Given the description of an element on the screen output the (x, y) to click on. 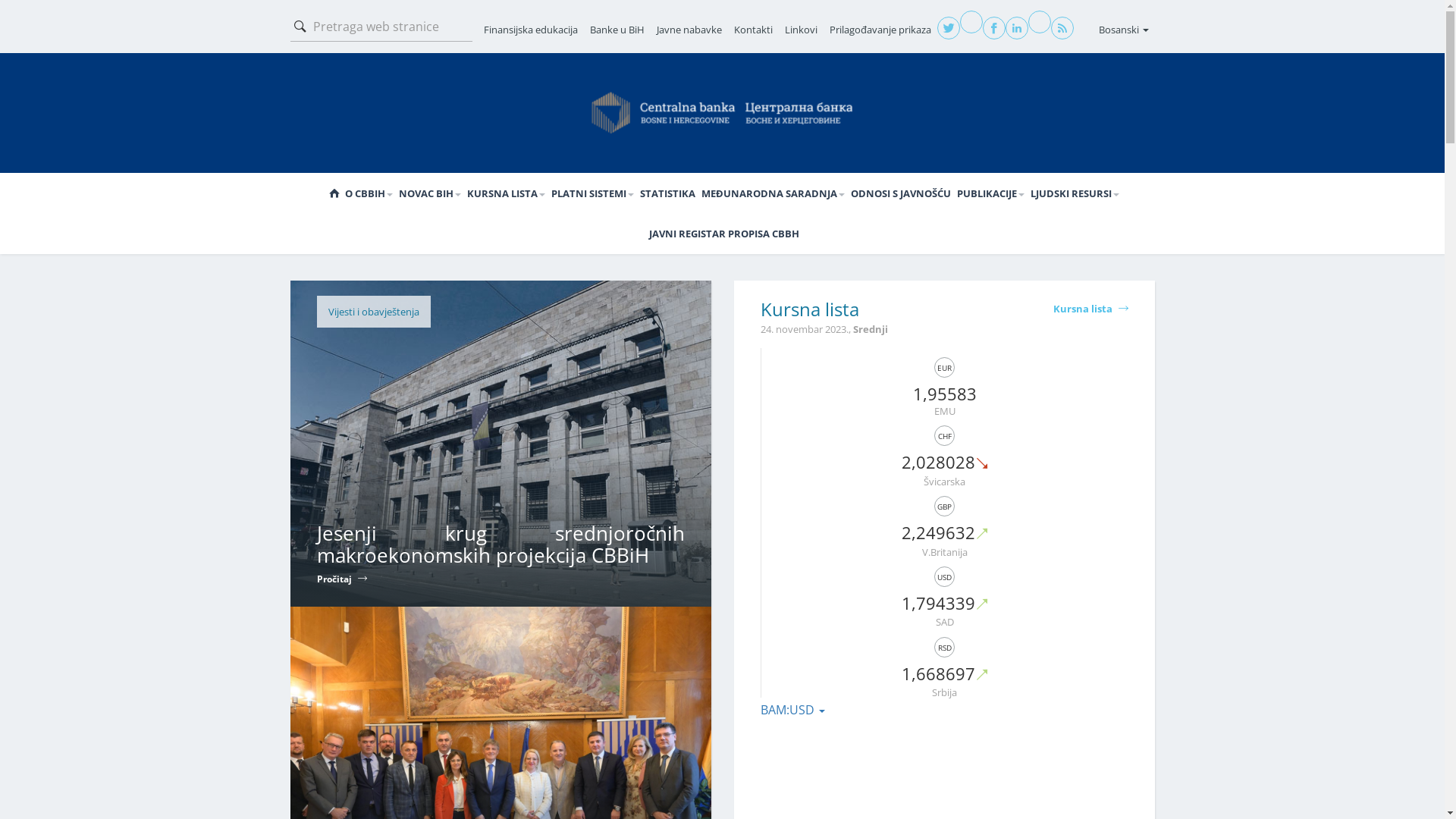
O CBBIH Element type: text (367, 193)
PUBLIKACIJE Element type: text (990, 193)
BAM:USD Element type: text (791, 709)
STATISTIKA Element type: text (667, 193)
Finansijska edukacija Element type: text (530, 29)
Kontakti Element type: text (753, 29)
KURSNA LISTA Element type: text (505, 193)
LJUDSKI RESURSI Element type: text (1074, 193)
Javne nabavke Element type: text (689, 29)
NOVAC BIH Element type: text (429, 193)
Kursna lista Element type: text (1089, 308)
Bosanski Element type: text (1123, 29)
JAVNI REGISTAR PROPISA CBBH Element type: text (723, 233)
Linkovi Element type: text (800, 29)
Banke u BiH Element type: text (616, 29)
PLATNI SISTEMI Element type: text (591, 193)
